Given the description of an element on the screen output the (x, y) to click on. 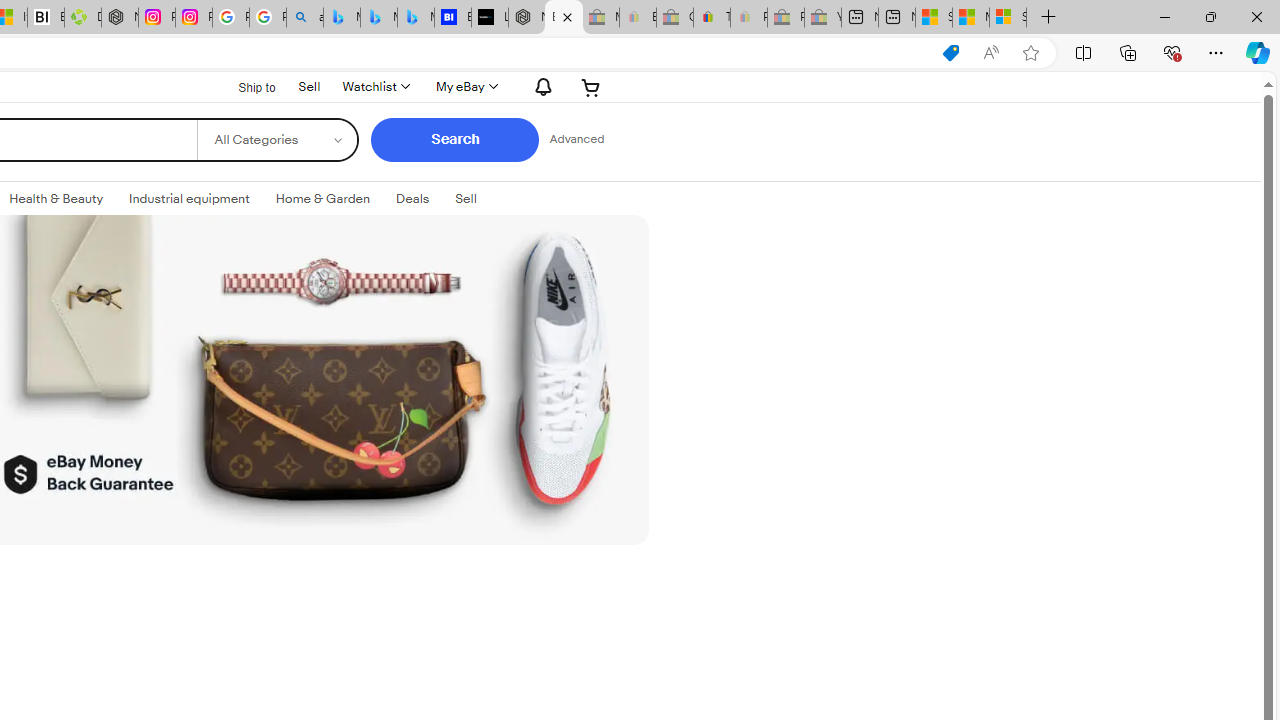
Deals (412, 199)
Microsoft Bing Travel - Shangri-La Hotel Bangkok (415, 17)
Your shopping cart (591, 86)
Yard, Garden & Outdoor Living - Sleeping (822, 17)
AutomationID: gh-eb-Alerts (540, 86)
alabama high school quarterback dies - Search (304, 17)
This site has coupons! Shopping in Microsoft Edge (950, 53)
Industrial equipmentExpand: Industrial equipment (189, 199)
SellExpand: Sell (465, 199)
